Given the description of an element on the screen output the (x, y) to click on. 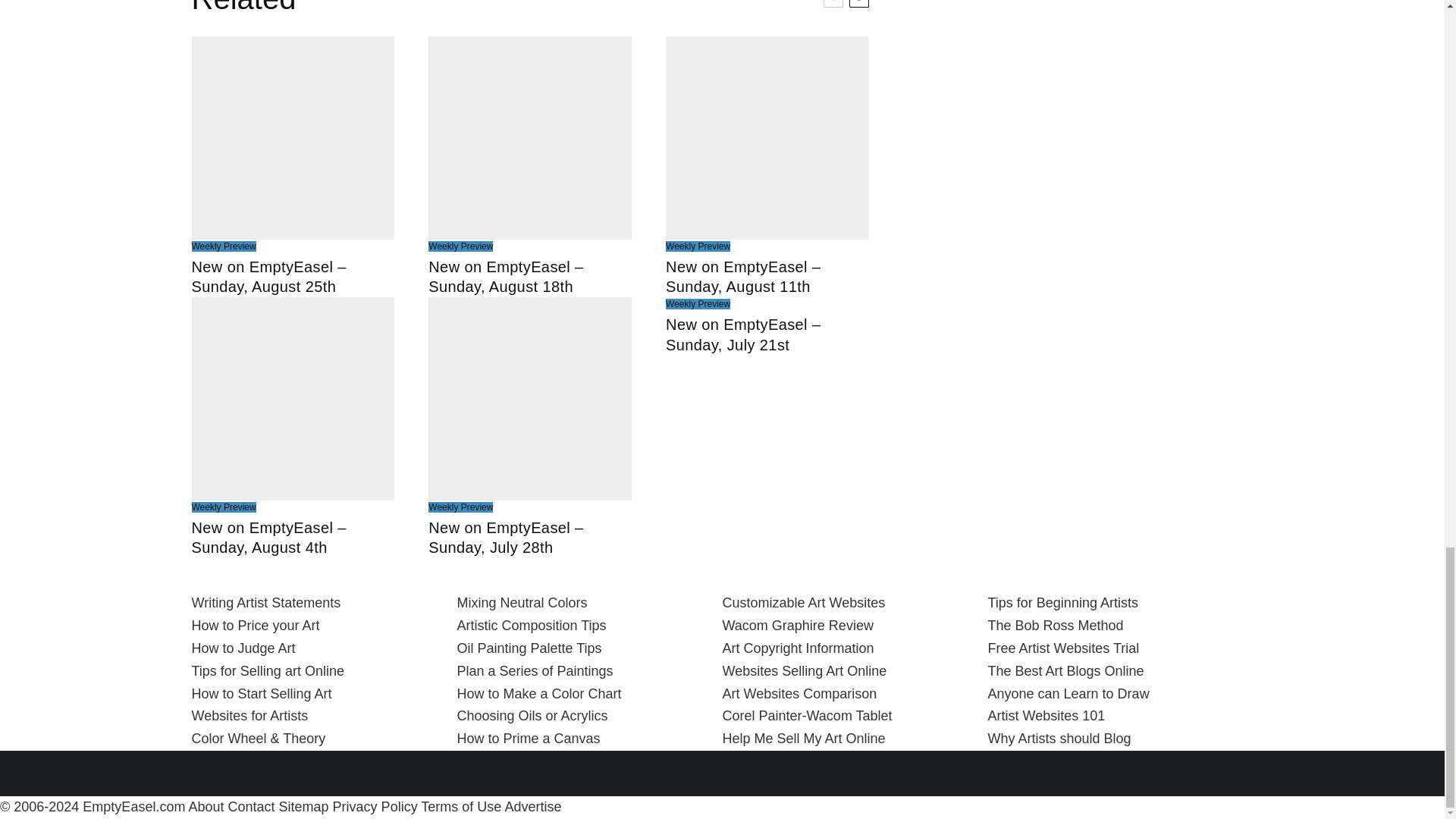
A review of the Wacom Graphire Pen and Tablet (797, 625)
How to create a simple color chart (539, 693)
How to judge art: Five qualities you can critique (242, 648)
Nine steps to creating better compositions (531, 625)
How to write a good artists statement and resume (265, 602)
Article on how to mix neutral colors like brown and black (521, 602)
Artist websites that actually help you sell art online (248, 715)
A guide to choosing between oil paint and acrylic paint (532, 715)
These artist websites allow tons of customization (803, 602)
